Given the description of an element on the screen output the (x, y) to click on. 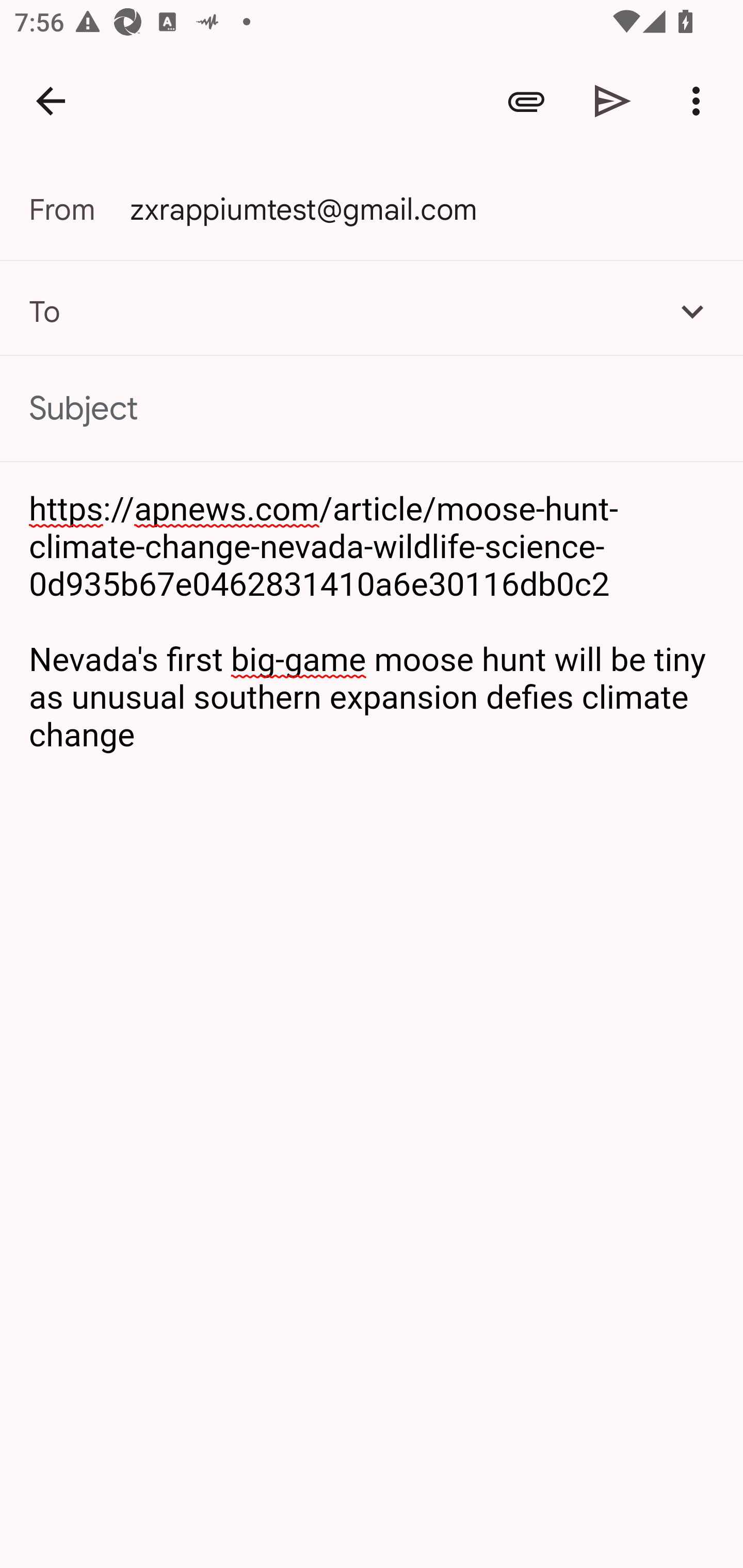
Navigate up (50, 101)
Attach file (525, 101)
Send (612, 101)
More options (699, 101)
From (79, 209)
Add Cc/Bcc (692, 311)
Subject (371, 407)
